Given the description of an element on the screen output the (x, y) to click on. 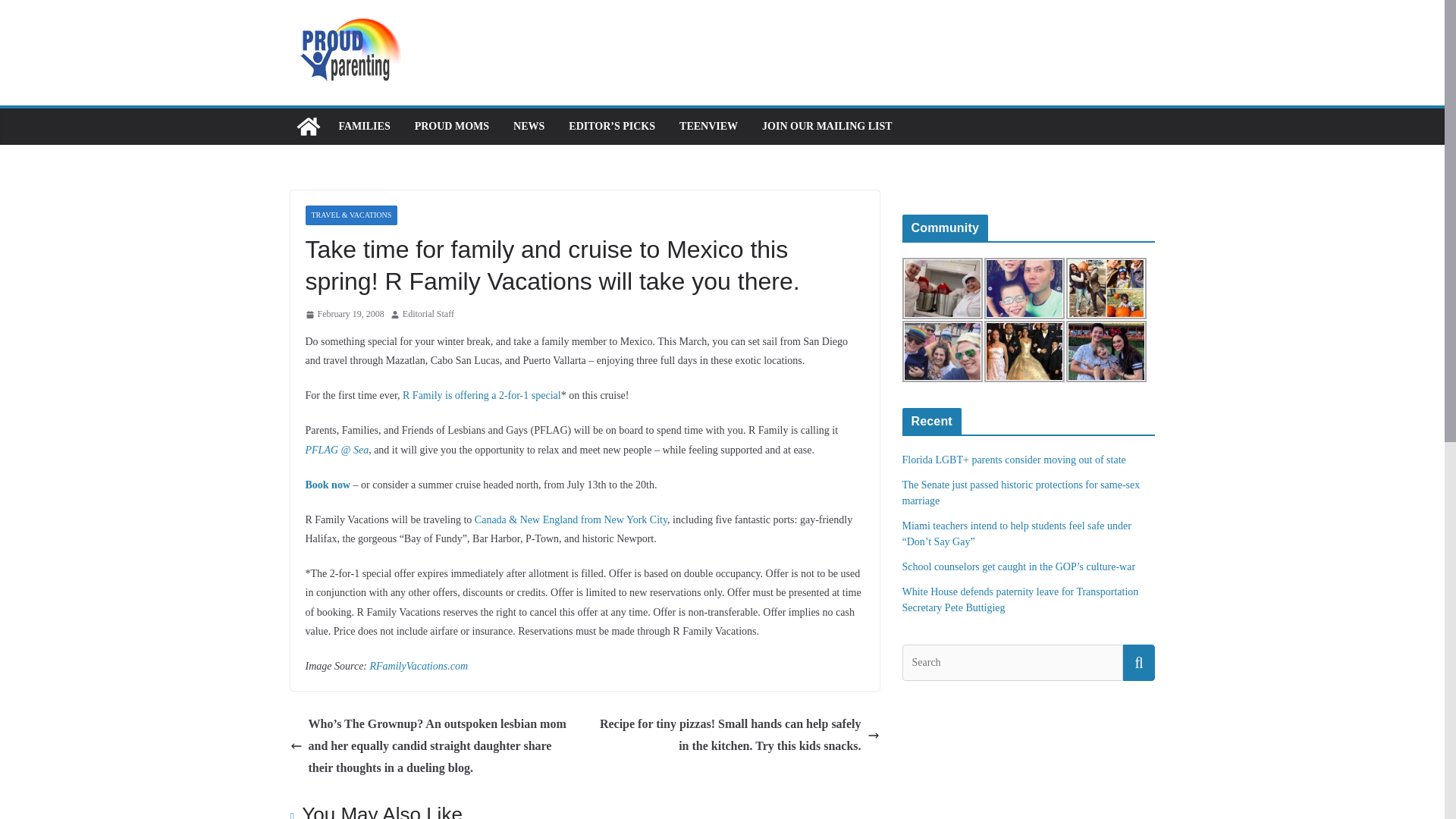
TEENVIEW (708, 126)
5:53 pm (344, 314)
FAMILIES (363, 126)
NEWS (528, 126)
JOIN OUR MAILING LIST (826, 126)
Editorial Staff (428, 314)
PROUD MOMS (451, 126)
Editorial Staff (428, 314)
Book now (327, 484)
RFamilyVacations.com (418, 665)
MelissaAnneDoyle (942, 288)
R Family is offering a 2-for-1 special (481, 395)
February 19, 2008 (344, 314)
